Given the description of an element on the screen output the (x, y) to click on. 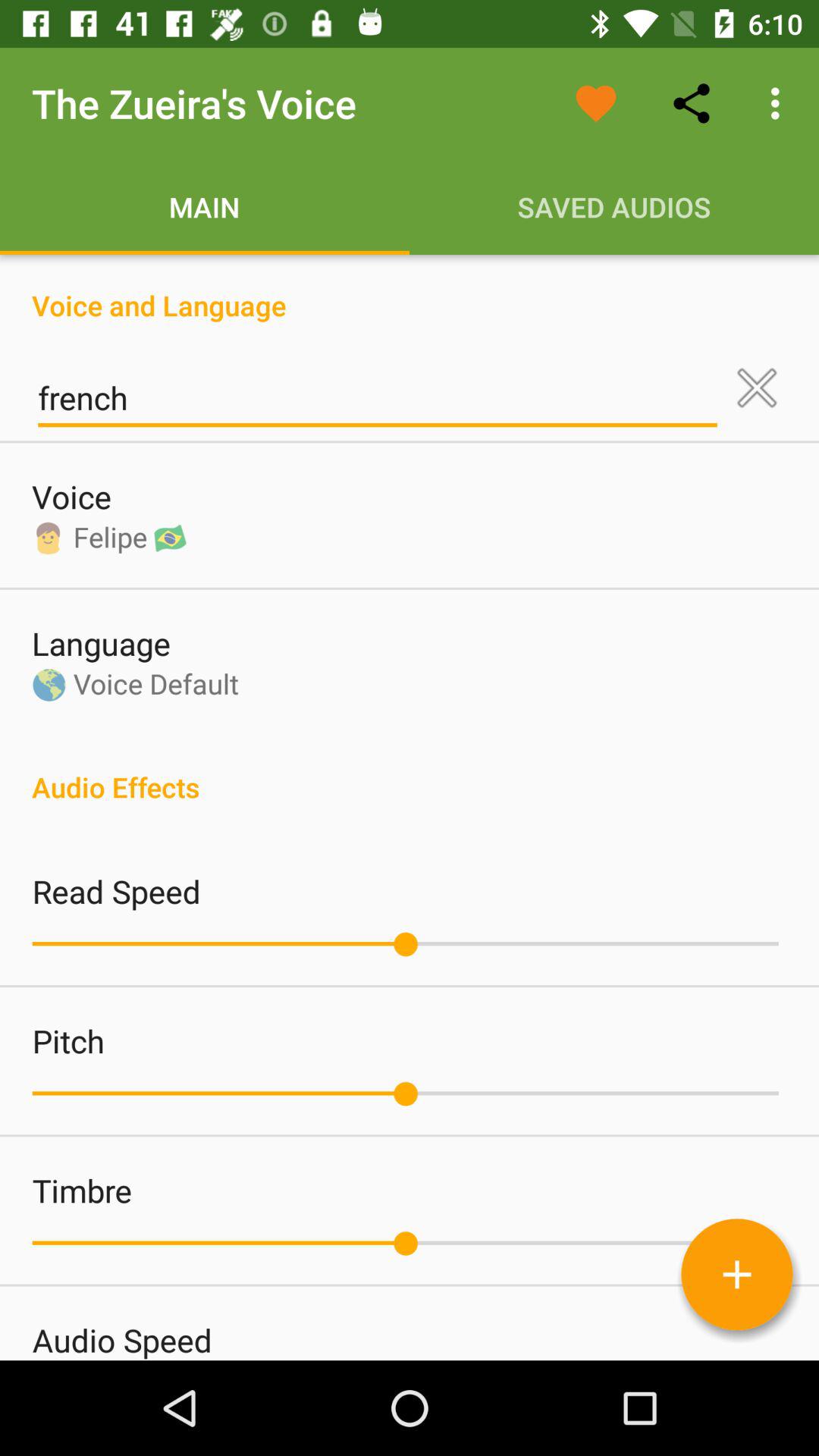
clear language setting (756, 387)
